Given the description of an element on the screen output the (x, y) to click on. 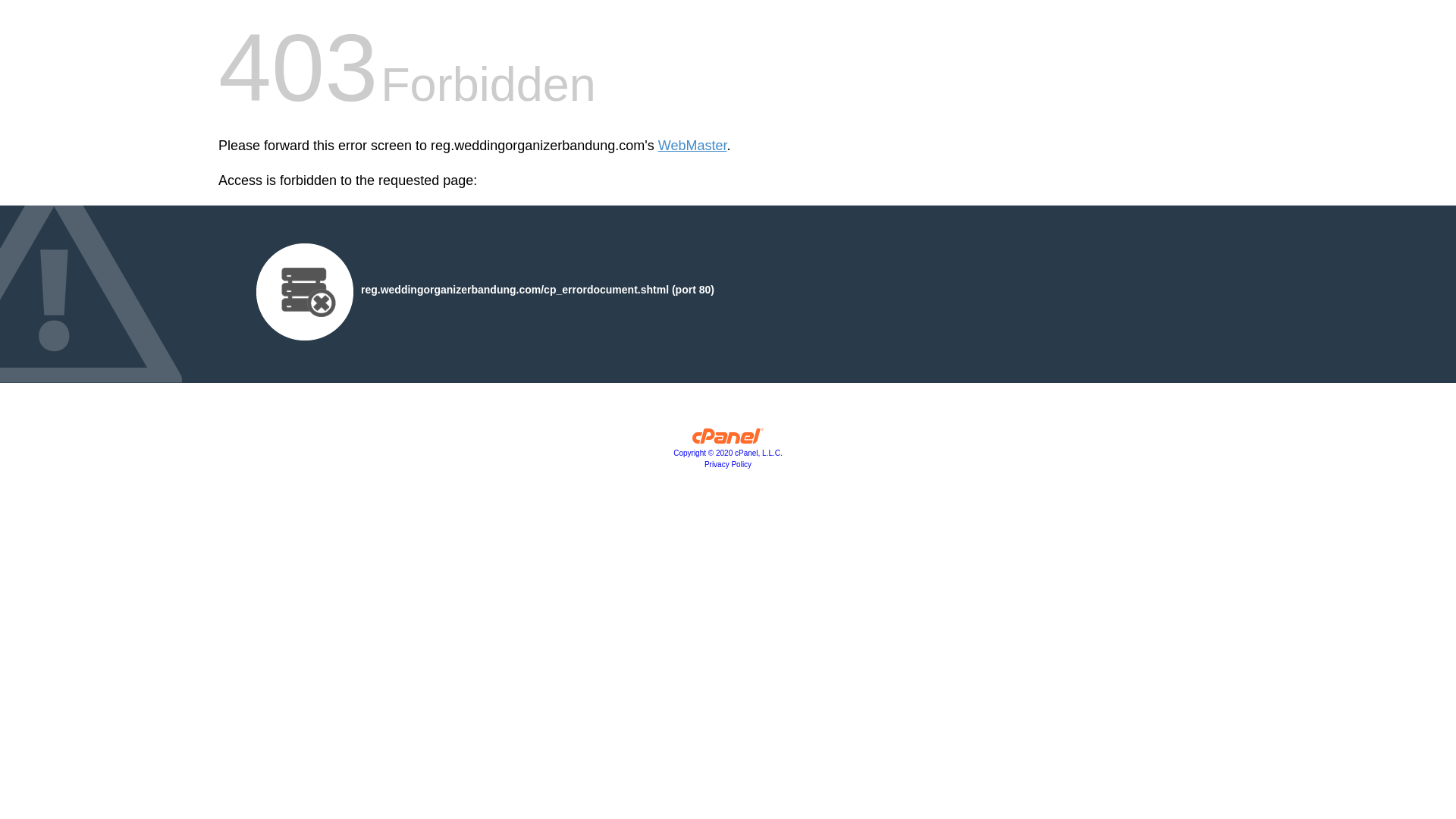
cPanel, Inc. (728, 439)
WebMaster (692, 145)
cPanel, Inc. (727, 452)
Privacy Policy (727, 464)
